Given the description of an element on the screen output the (x, y) to click on. 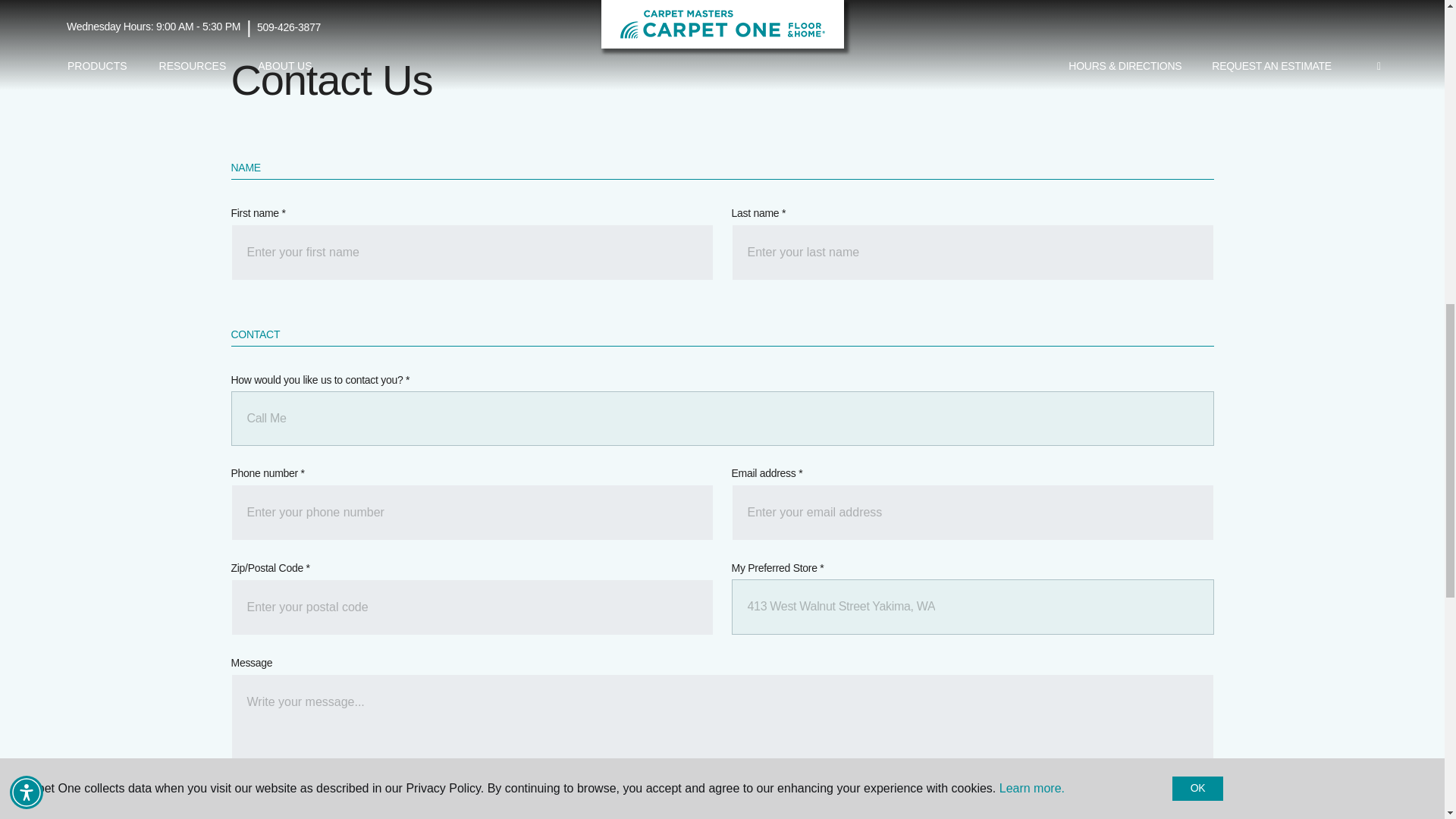
CleanHomePhone (471, 512)
LastName (971, 252)
MyMessage (721, 720)
PostalCode (471, 607)
FirstName (471, 252)
EmailAddress (971, 512)
